Given the description of an element on the screen output the (x, y) to click on. 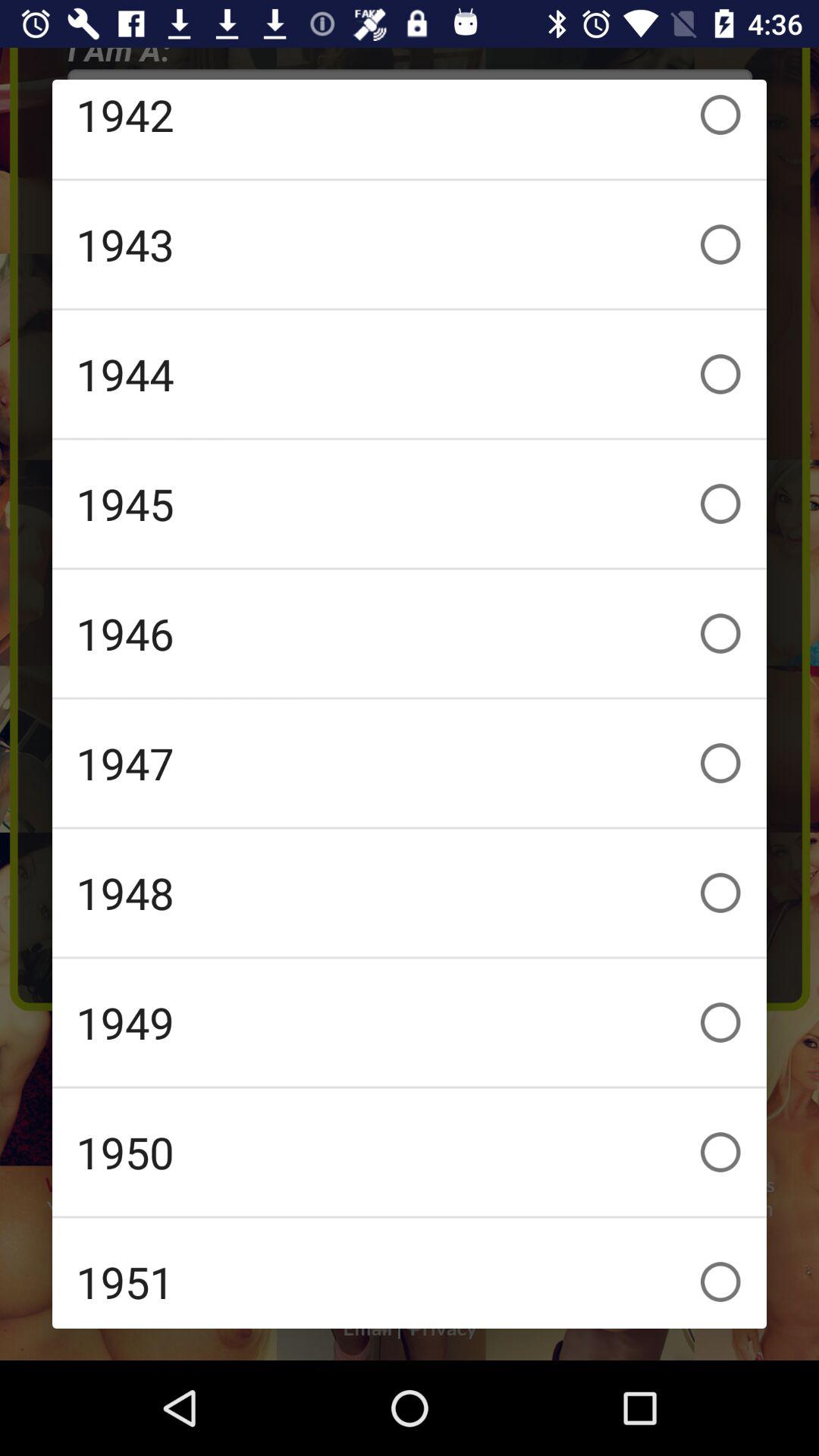
tap 1948 item (409, 892)
